Given the description of an element on the screen output the (x, y) to click on. 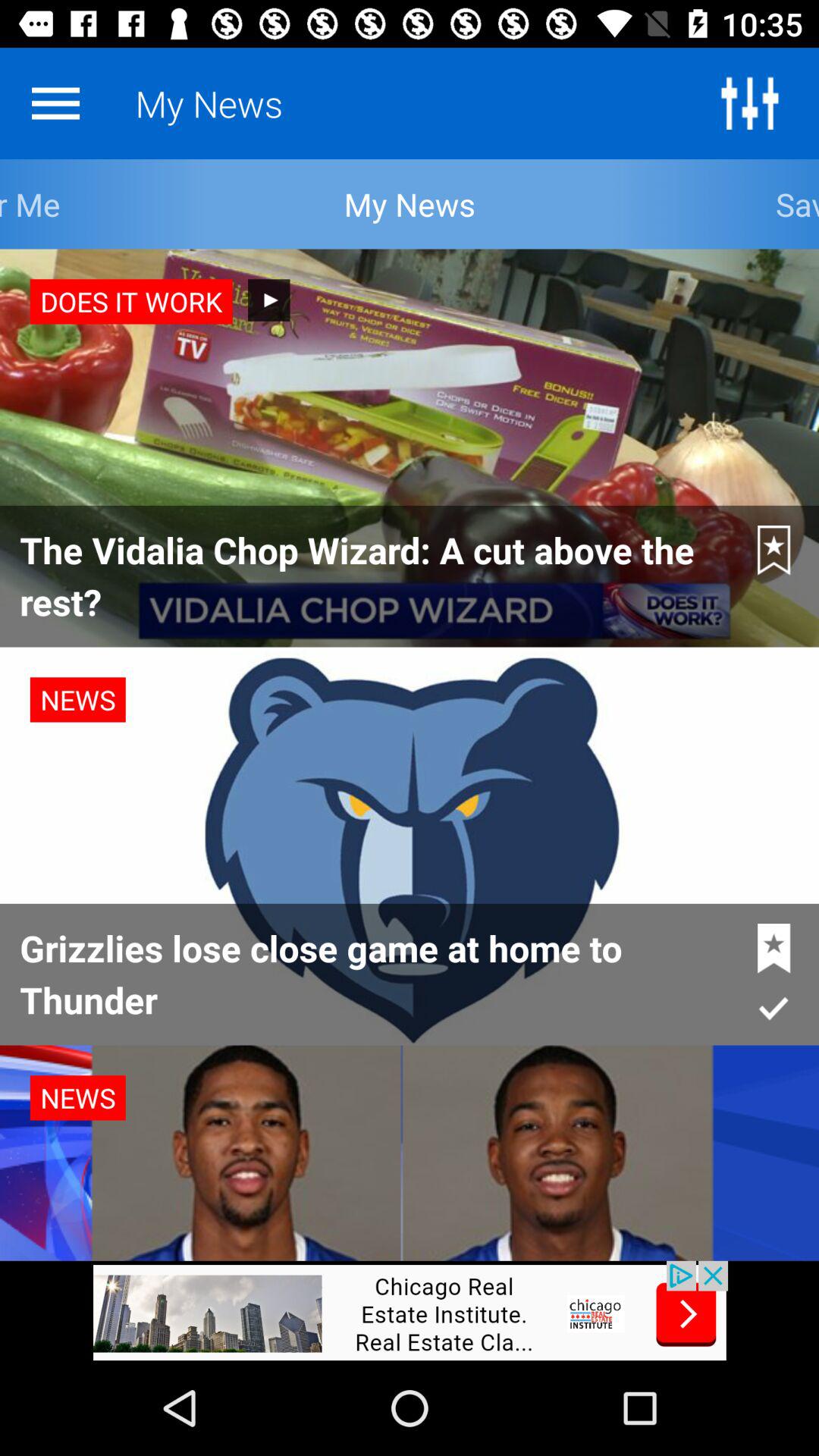
colour adjustment (749, 102)
